Given the description of an element on the screen output the (x, y) to click on. 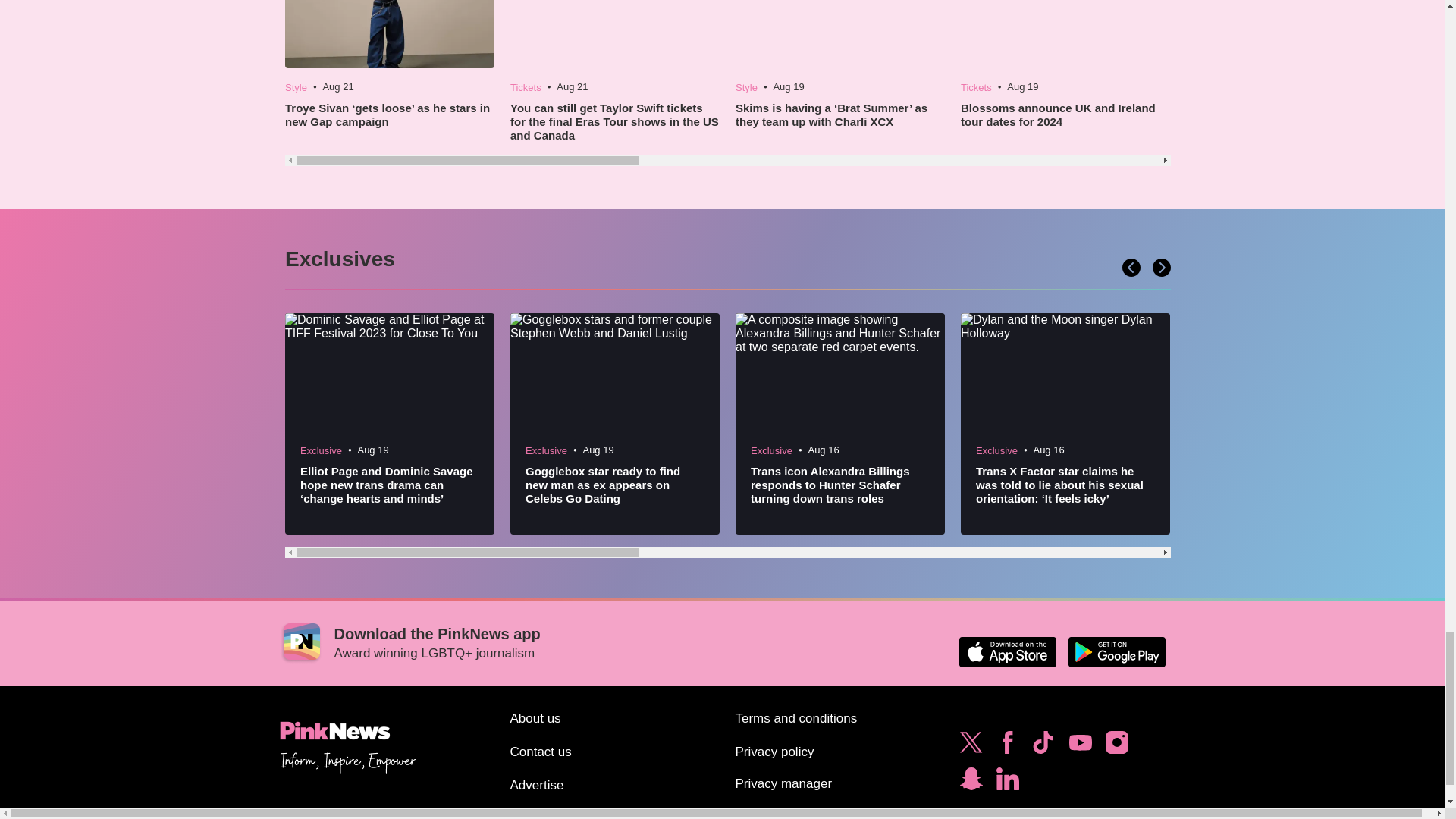
Follow PinkNews on Instagram (1116, 746)
Subscribe to PinkNews on Snapchat (970, 782)
Follow PinkNews on Twitter (970, 746)
Follow PinkNews on TikTok (1042, 746)
Download the PinkNews app on the Apple App Store (1006, 652)
Subscribe to PinkNews on YouTube (1079, 746)
Download the PinkNews app on Google Play (1115, 652)
Follow PinkNews on LinkedIn (1007, 782)
